Given the description of an element on the screen output the (x, y) to click on. 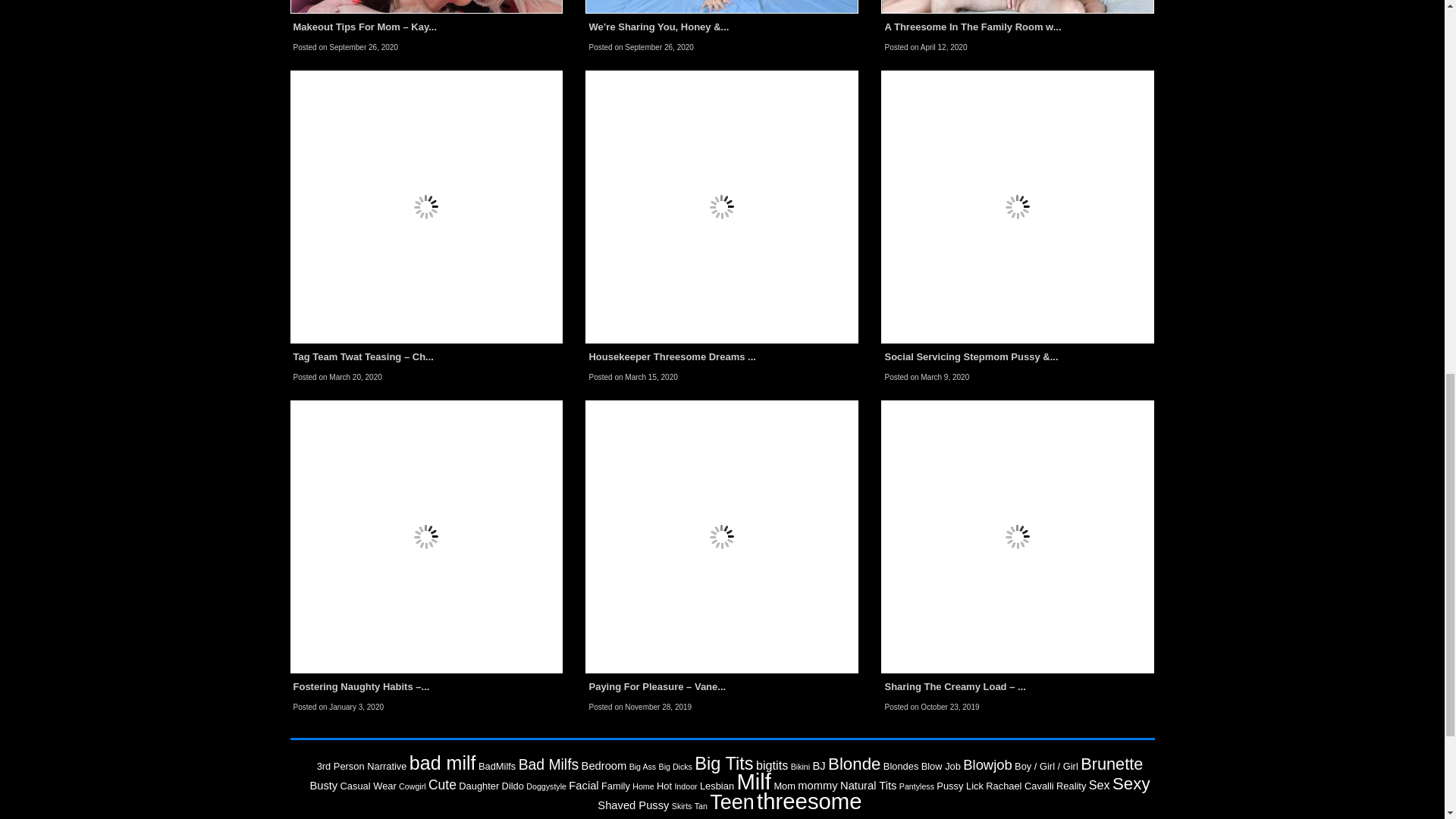
bad milf (442, 762)
A Threesome In The Family Room w... (972, 26)
Bad Milfs (548, 764)
Bedroom (603, 766)
3rd Person Narrative (362, 766)
BadMilfs (497, 766)
